Given the description of an element on the screen output the (x, y) to click on. 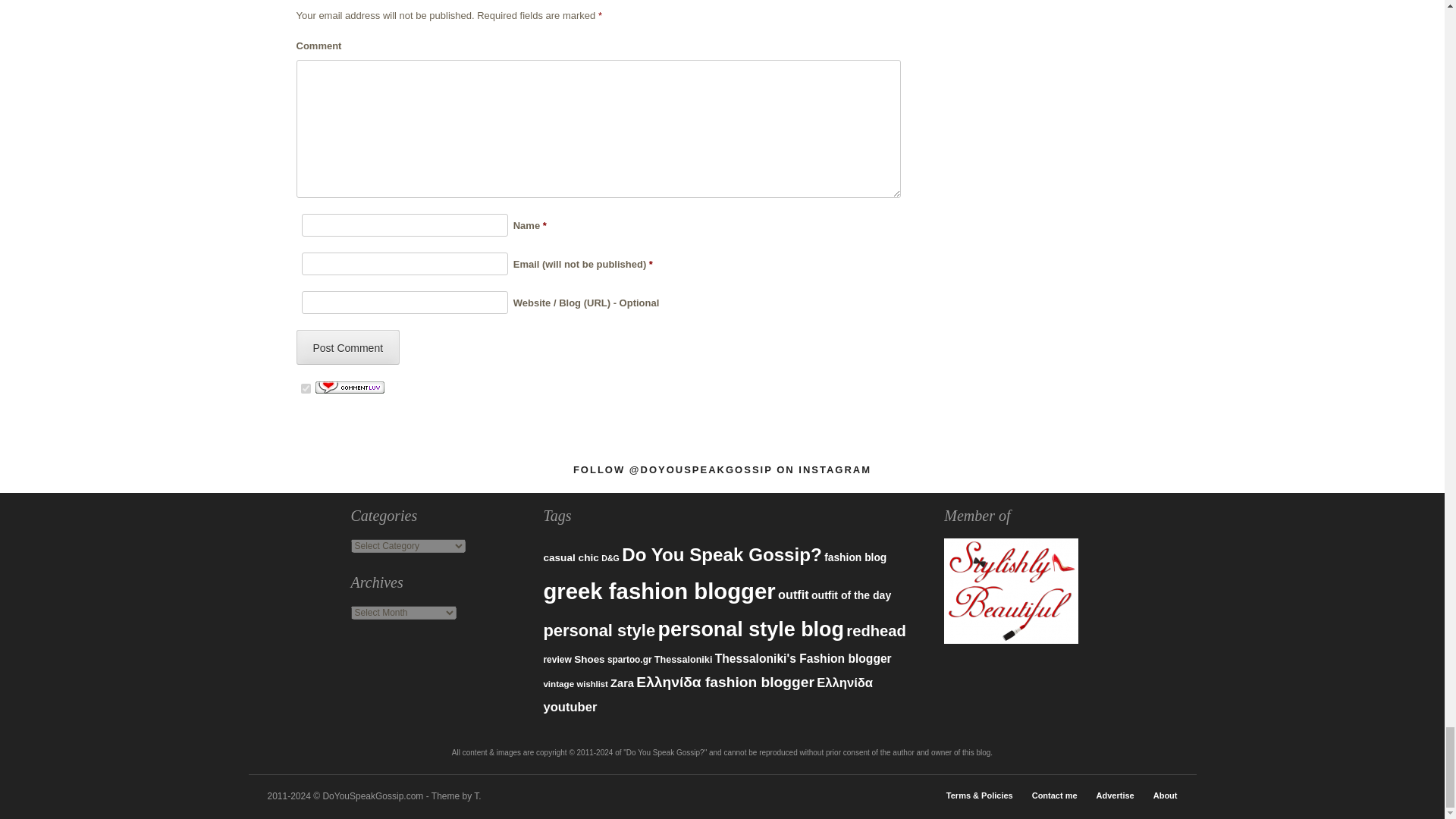
Post Comment (346, 347)
on (304, 388)
